Given the description of an element on the screen output the (x, y) to click on. 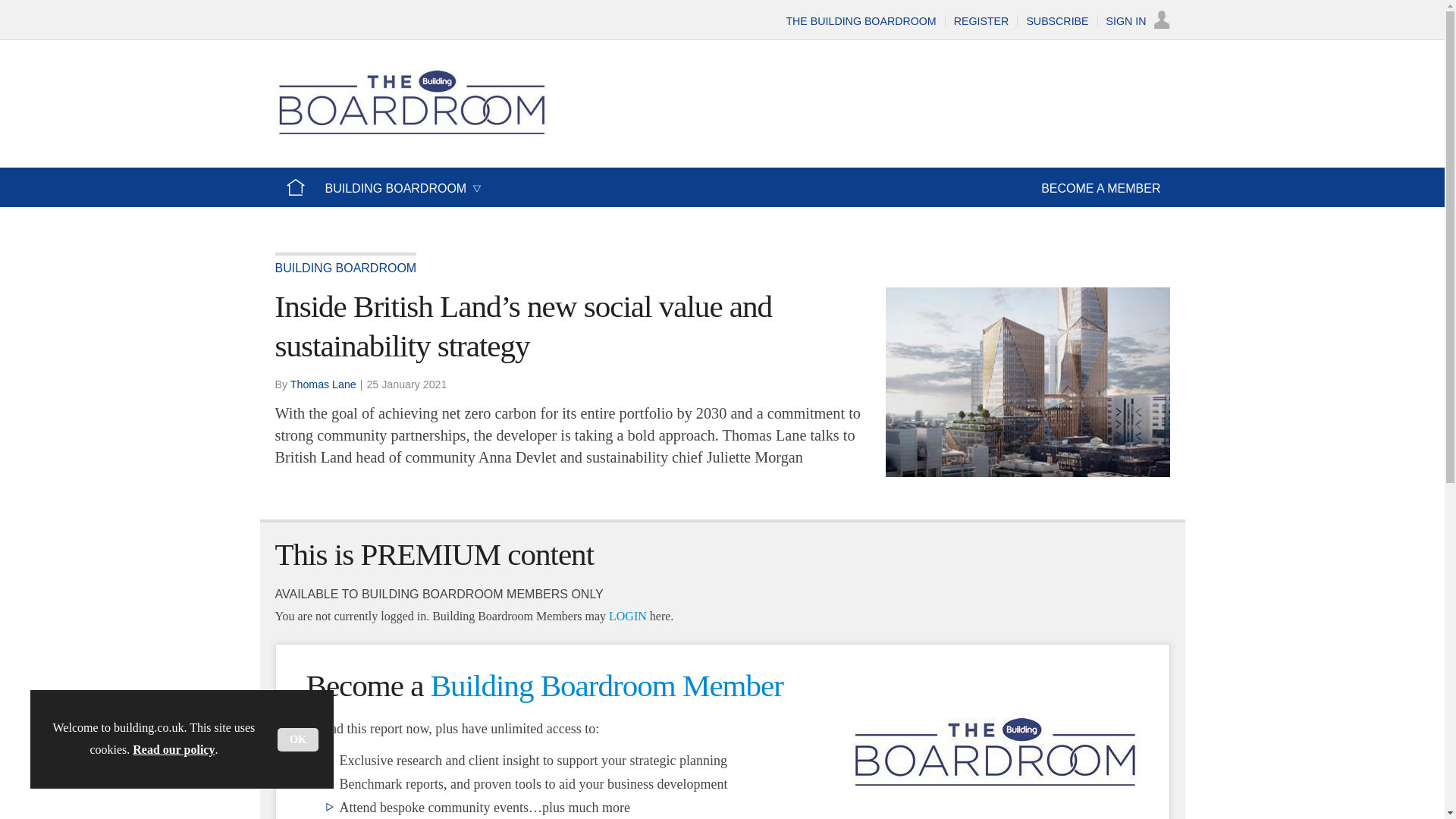
SIGN IN (1138, 21)
REGISTER (981, 21)
SUBSCRIBE (1056, 21)
OK (298, 739)
THE BUILDING BOARDROOM (861, 21)
Read our policy (173, 748)
